Given the description of an element on the screen output the (x, y) to click on. 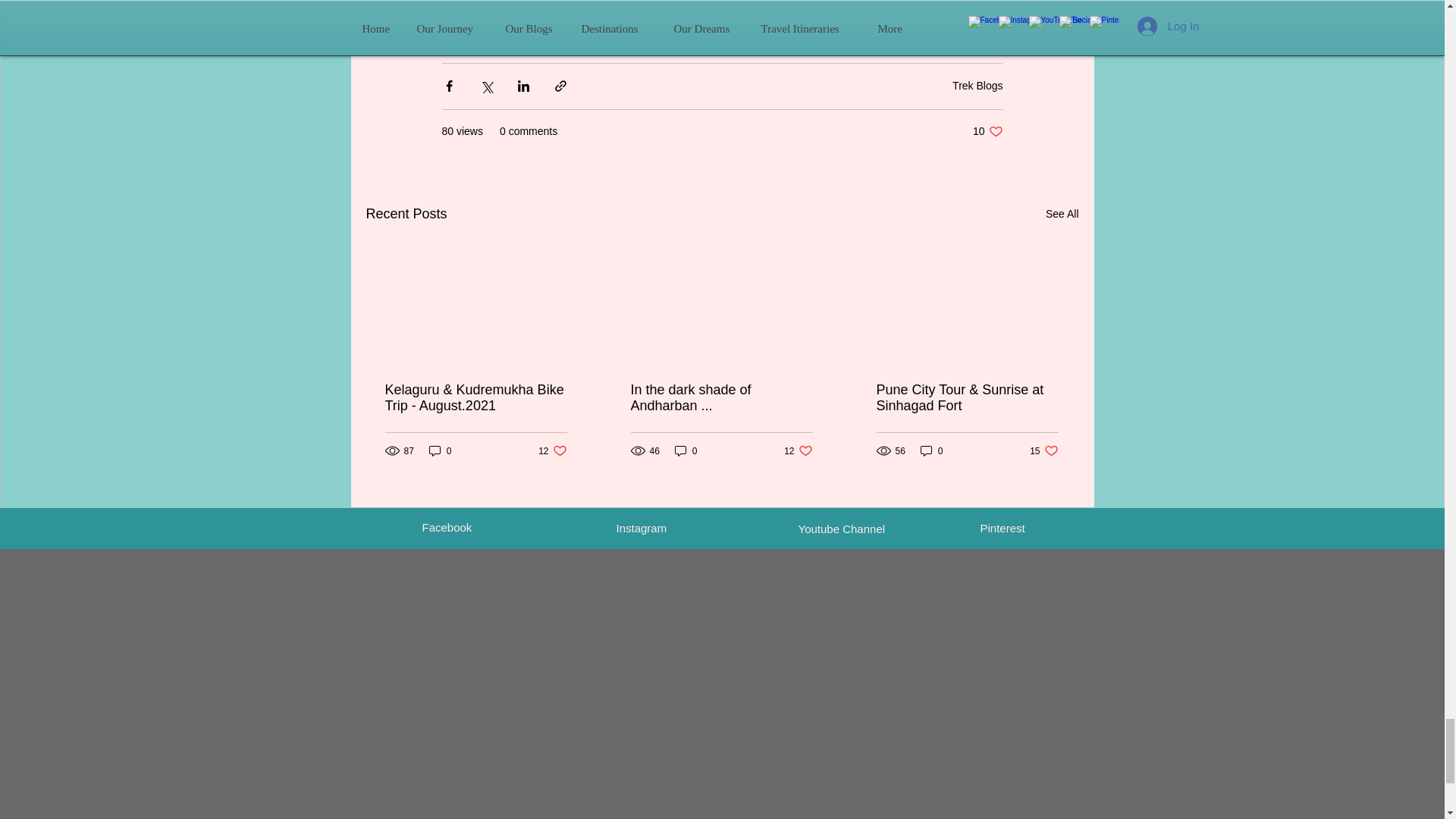
0 (440, 450)
Trek Blogs (977, 85)
See All (987, 131)
